Given the description of an element on the screen output the (x, y) to click on. 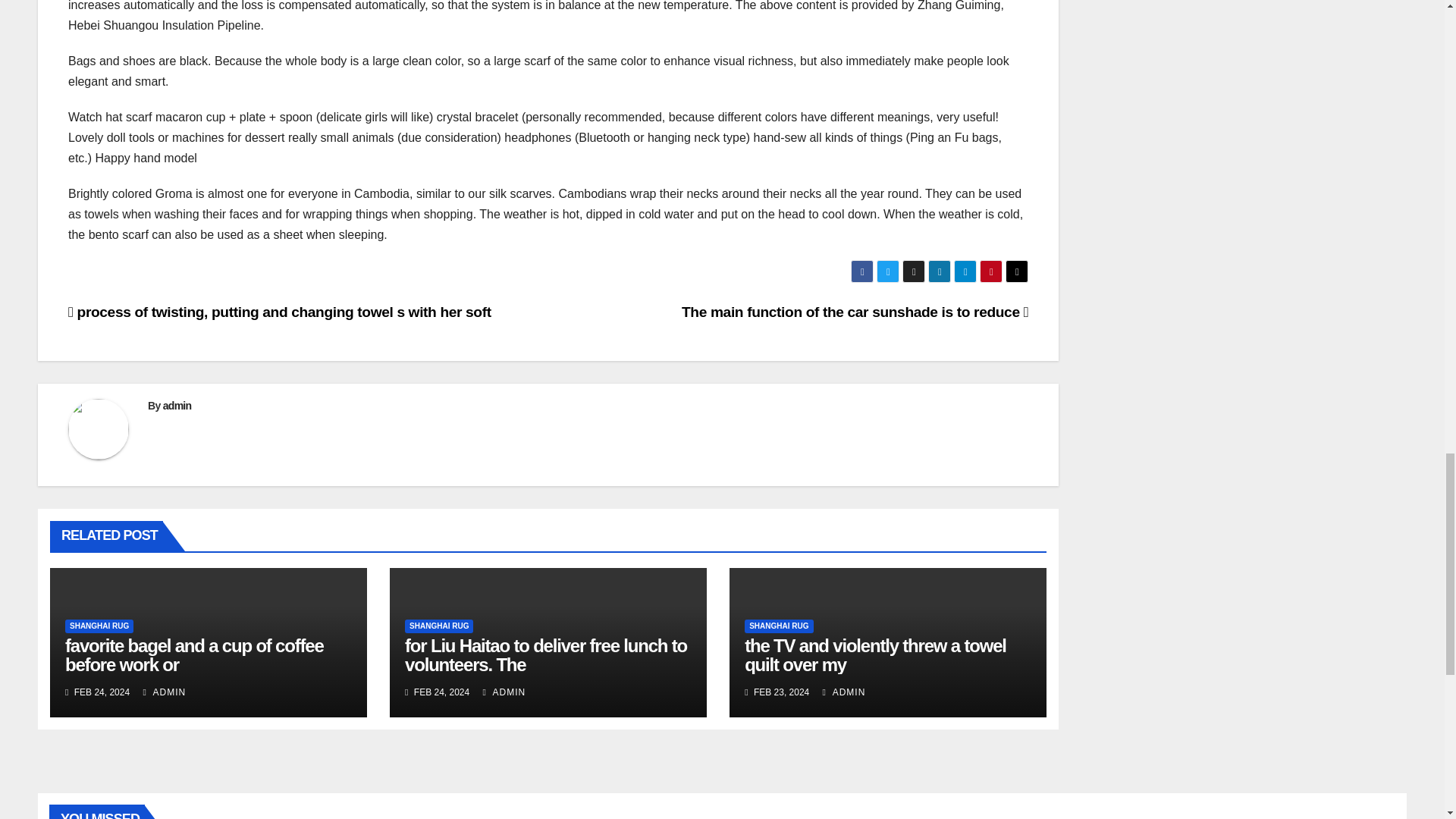
The main function of the car sunshade is to reduce (854, 311)
the TV and violently threw a towel quilt over my (875, 654)
ADMIN (504, 692)
SHANGHAI RUG (438, 626)
admin (177, 405)
SHANGHAI RUG (99, 626)
ADMIN (164, 692)
ADMIN (844, 692)
for Liu Haitao to deliver free lunch to volunteers. The (545, 654)
favorite bagel and a cup of coffee before work or (194, 654)
SHANGHAI RUG (778, 626)
